Given the description of an element on the screen output the (x, y) to click on. 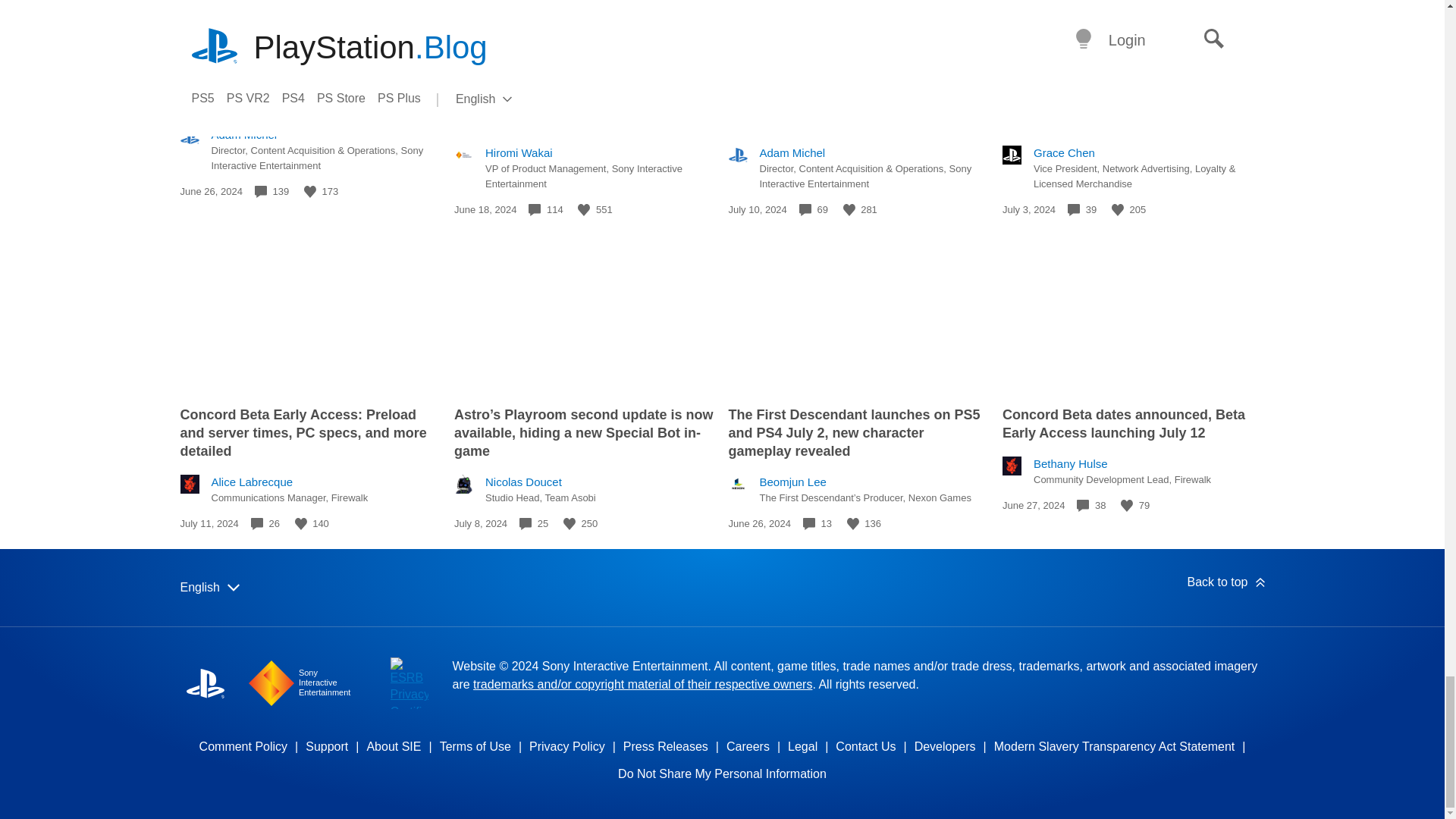
Like this (1118, 209)
Like this (583, 209)
Like this (309, 191)
Like this (301, 523)
Like this (849, 209)
